Given the description of an element on the screen output the (x, y) to click on. 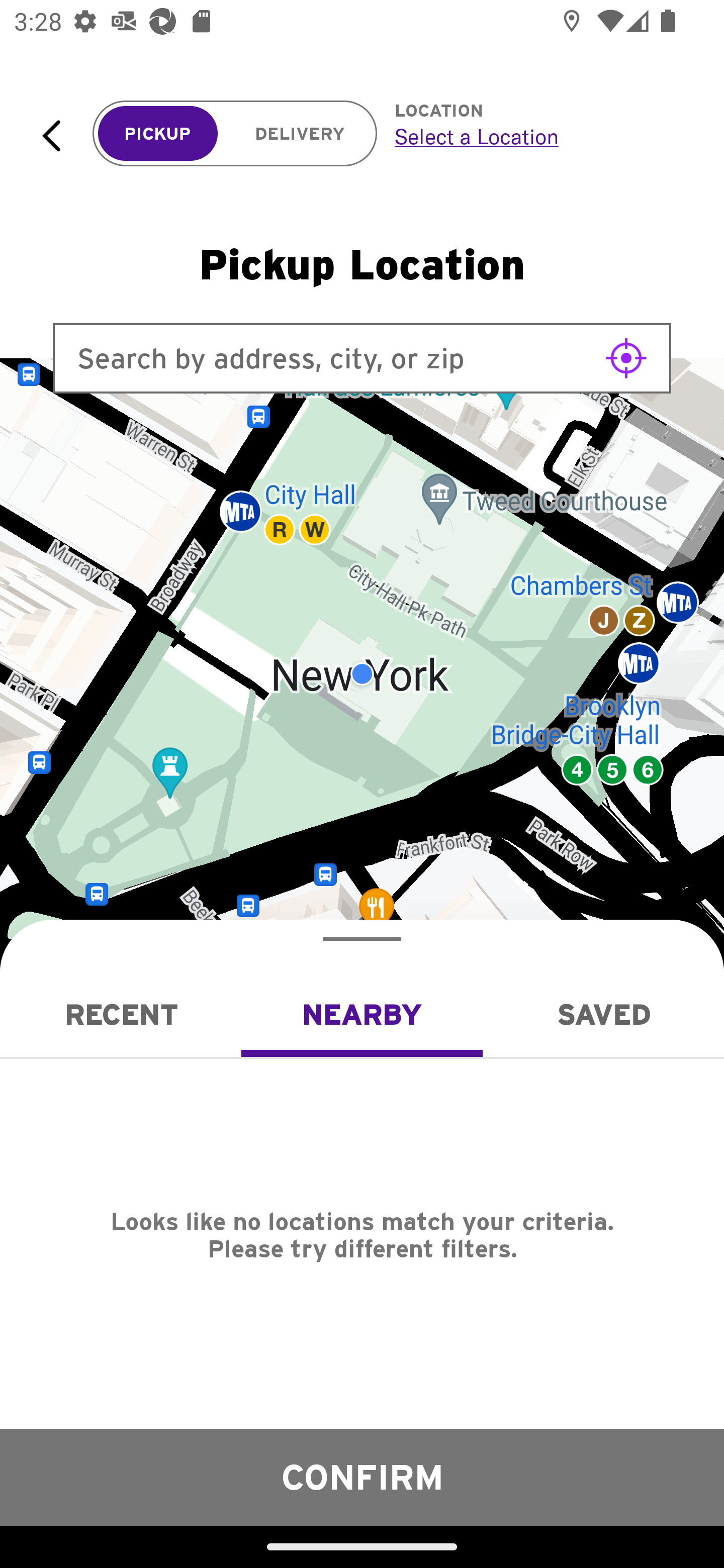
PICKUP (157, 133)
DELIVERY (299, 133)
Select a Location (536, 136)
Search by address, city, or zip (361, 358)
Google Map (362, 674)
Recent RECENT (120, 1014)
Saved SAVED (603, 1014)
CONFIRM (362, 1476)
